Given the description of an element on the screen output the (x, y) to click on. 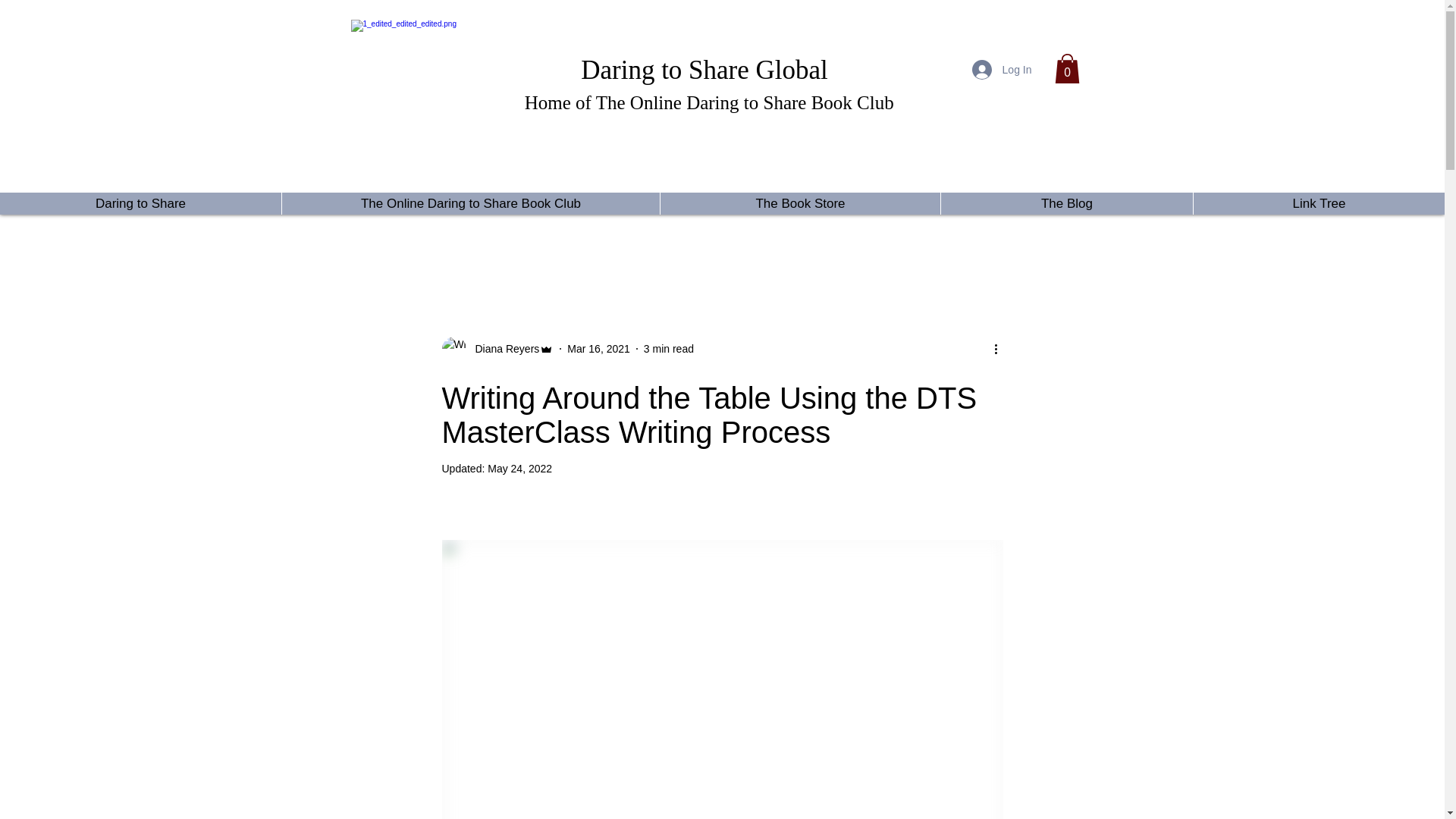
May 24, 2022 (519, 468)
The Online Daring to Share Book Club (470, 203)
Log In (1001, 69)
Personal Transformation (714, 244)
Diana Reyers (501, 349)
Personal Development (853, 244)
Community, Storytelling (491, 244)
The Book Store (799, 203)
All Posts (385, 244)
Daring to Share (140, 203)
0 (1066, 68)
Reflections (601, 244)
3 min read (668, 348)
Mar 16, 2021 (598, 348)
  Home of The Online Daring to Share Book Club (704, 100)
